Given the description of an element on the screen output the (x, y) to click on. 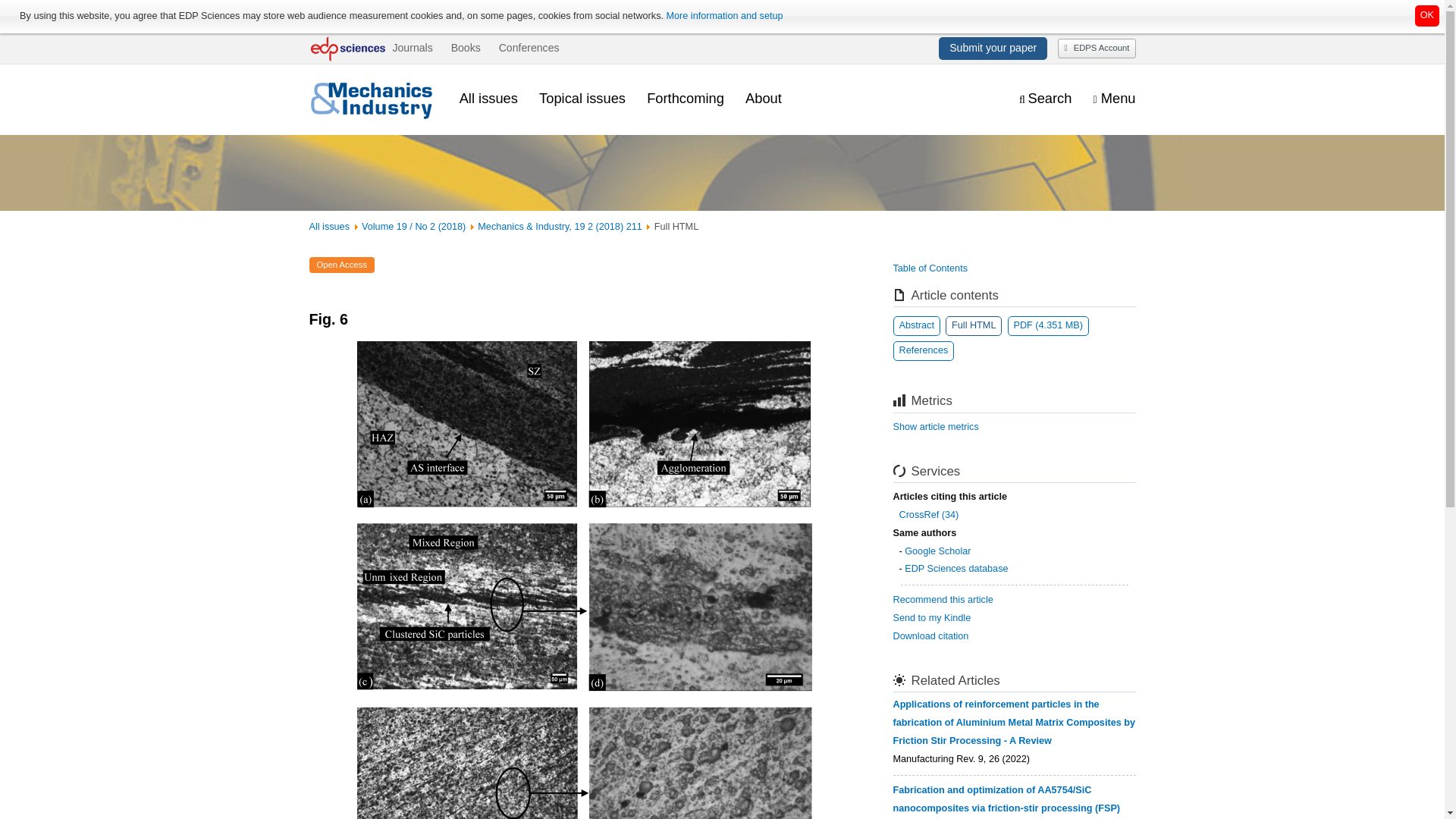
Journal homepage (373, 99)
Books (465, 47)
Submit your paper (992, 47)
Display the search engine (1045, 98)
Conferences (529, 47)
Click to close this notification (1427, 15)
More information and setup (724, 15)
Abstract (916, 325)
Send this article to my Kindle (932, 617)
OK (1427, 15)
References (924, 351)
Full HTML (972, 325)
Journals (411, 47)
